Given the description of an element on the screen output the (x, y) to click on. 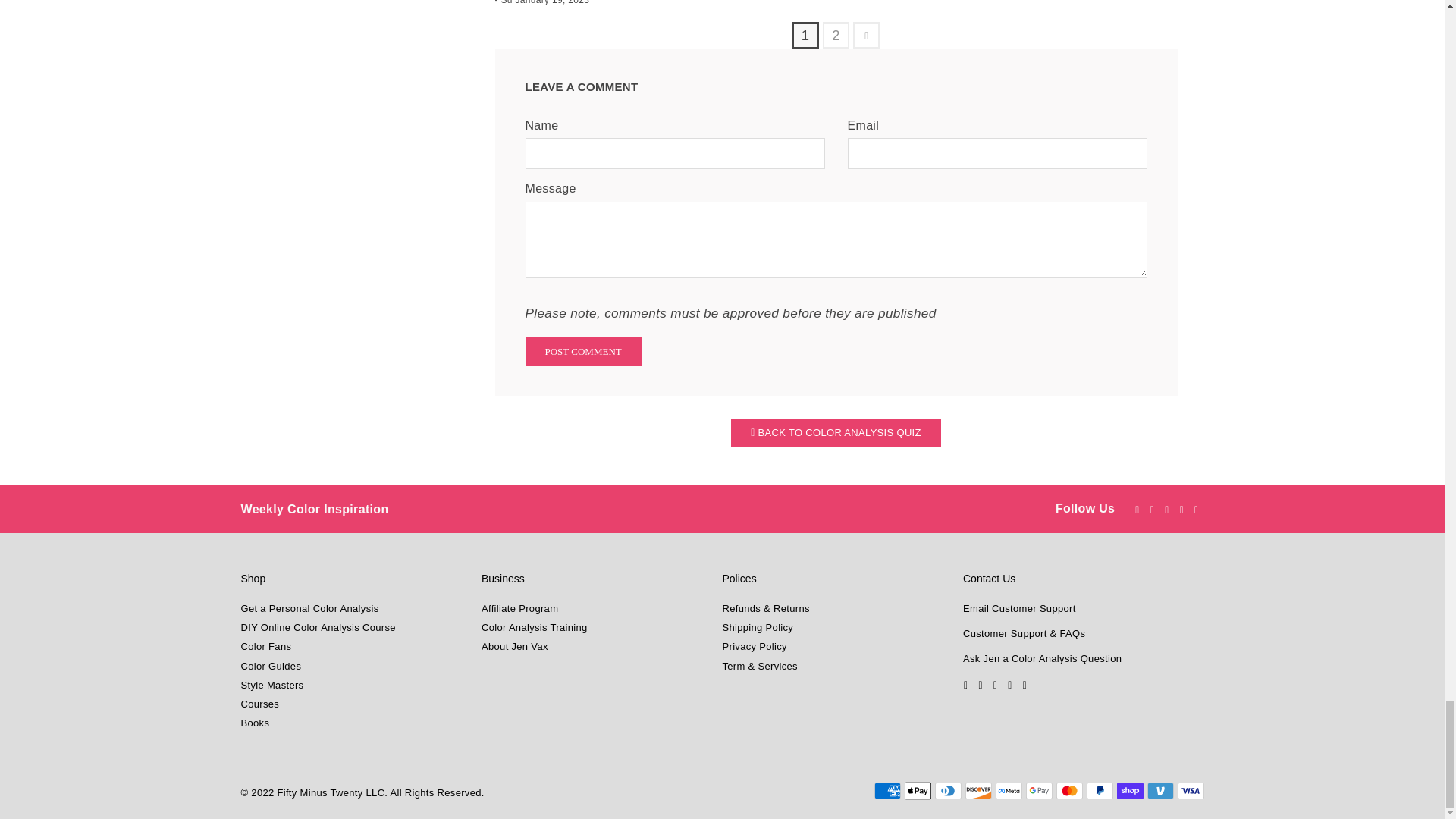
Google Pay (1038, 791)
Apple Pay (917, 791)
Discover (977, 791)
American Express (886, 791)
Diners Club (947, 791)
Visa (1190, 791)
Shop Pay (1129, 791)
PayPal (1099, 791)
Venmo (1160, 791)
Mastercard (1068, 791)
Meta Pay (1008, 791)
Post comment (582, 351)
